Given the description of an element on the screen output the (x, y) to click on. 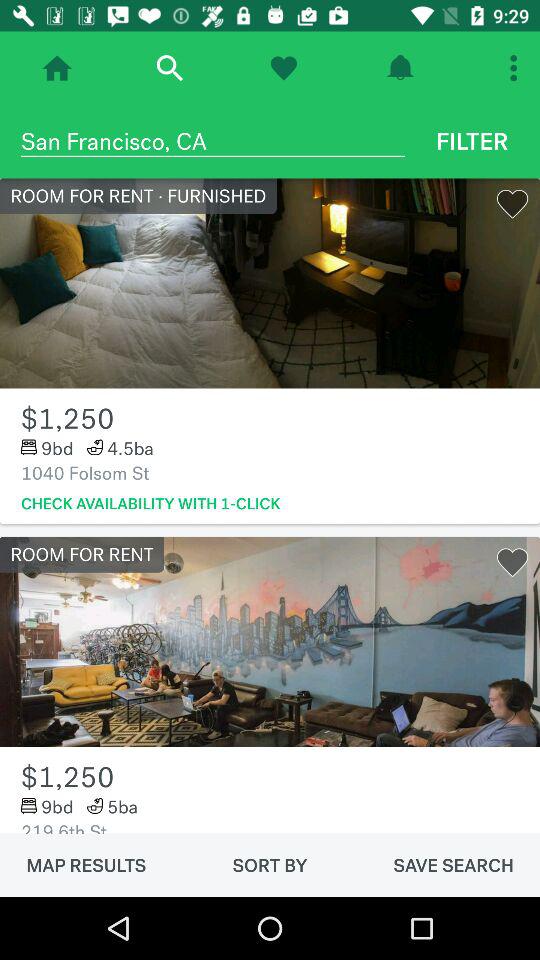
search (169, 68)
